Given the description of an element on the screen output the (x, y) to click on. 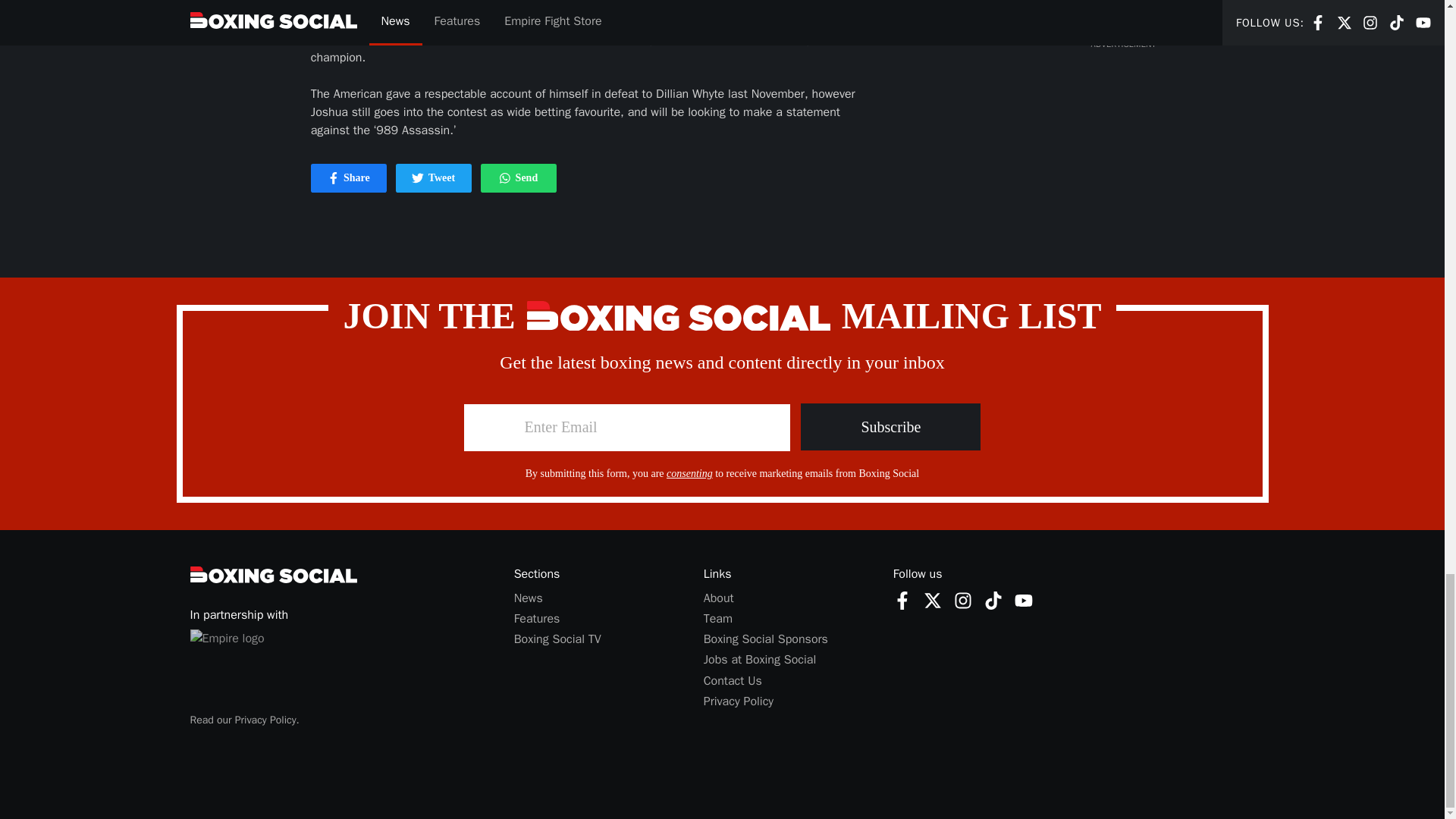
Facebook (518, 177)
Contact Us (902, 600)
Subscribe (732, 679)
News (889, 426)
Twitter (528, 598)
Jobs at Boxing Social (417, 177)
Features (962, 599)
Privacy Policy (349, 177)
consenting (759, 659)
Boxing Social Sponsors (993, 599)
